Given the description of an element on the screen output the (x, y) to click on. 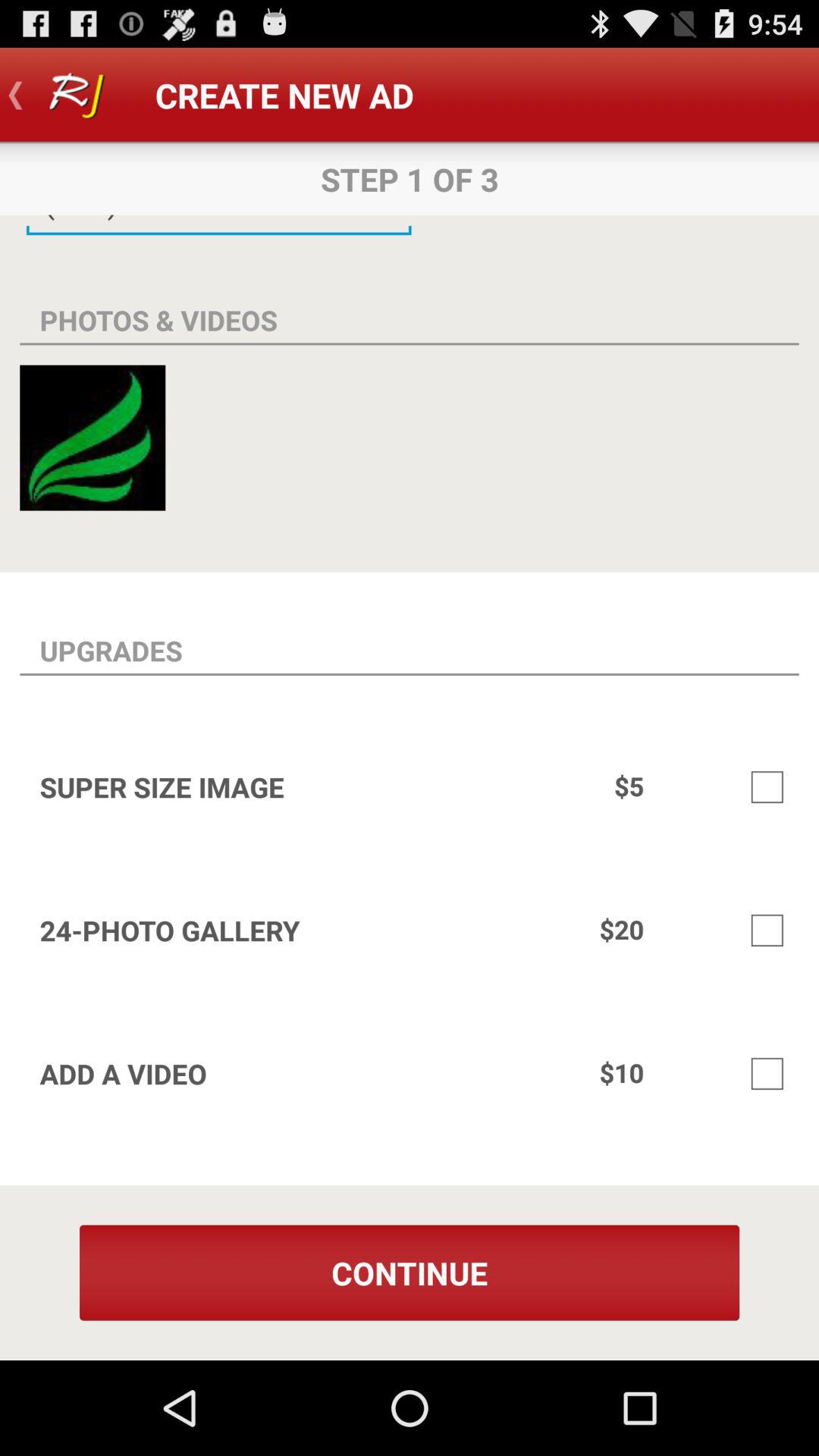
selection button (767, 787)
